Given the description of an element on the screen output the (x, y) to click on. 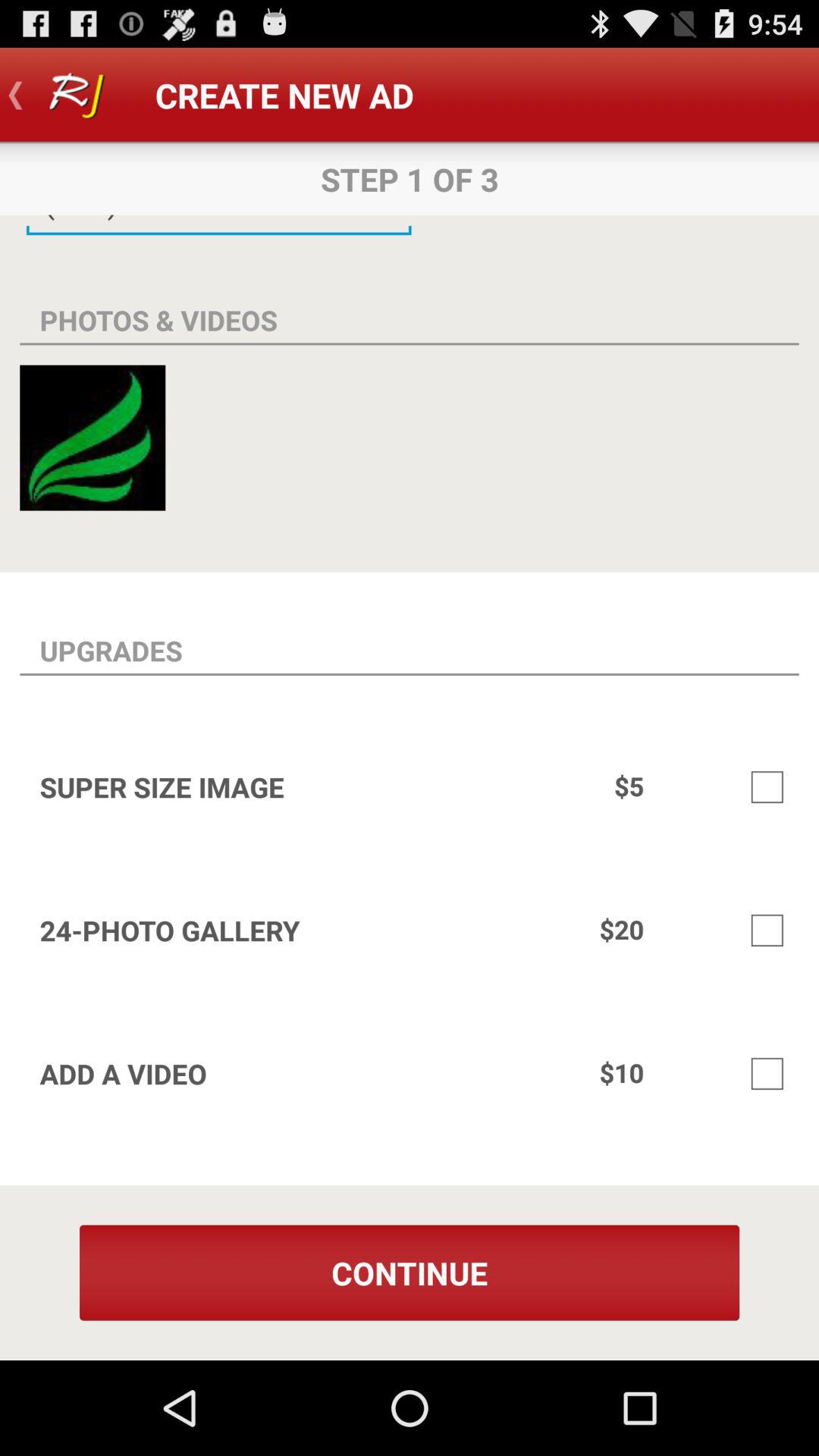
selection button (767, 787)
